Given the description of an element on the screen output the (x, y) to click on. 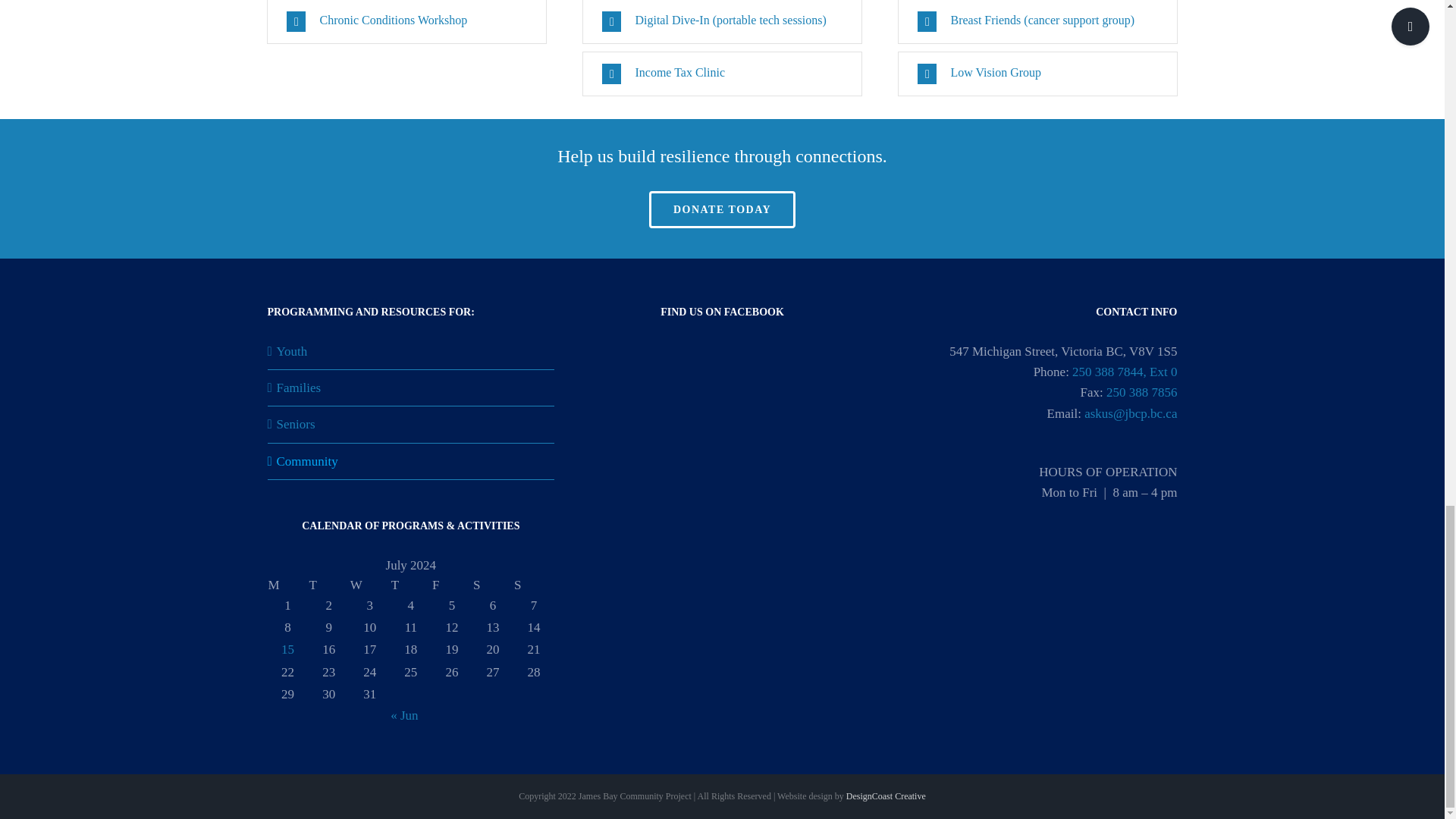
Sunday (533, 584)
Thursday (410, 584)
Monday (286, 584)
Friday (450, 584)
Wednesday (369, 584)
Saturday (492, 584)
Tuesday (328, 584)
